Given the description of an element on the screen output the (x, y) to click on. 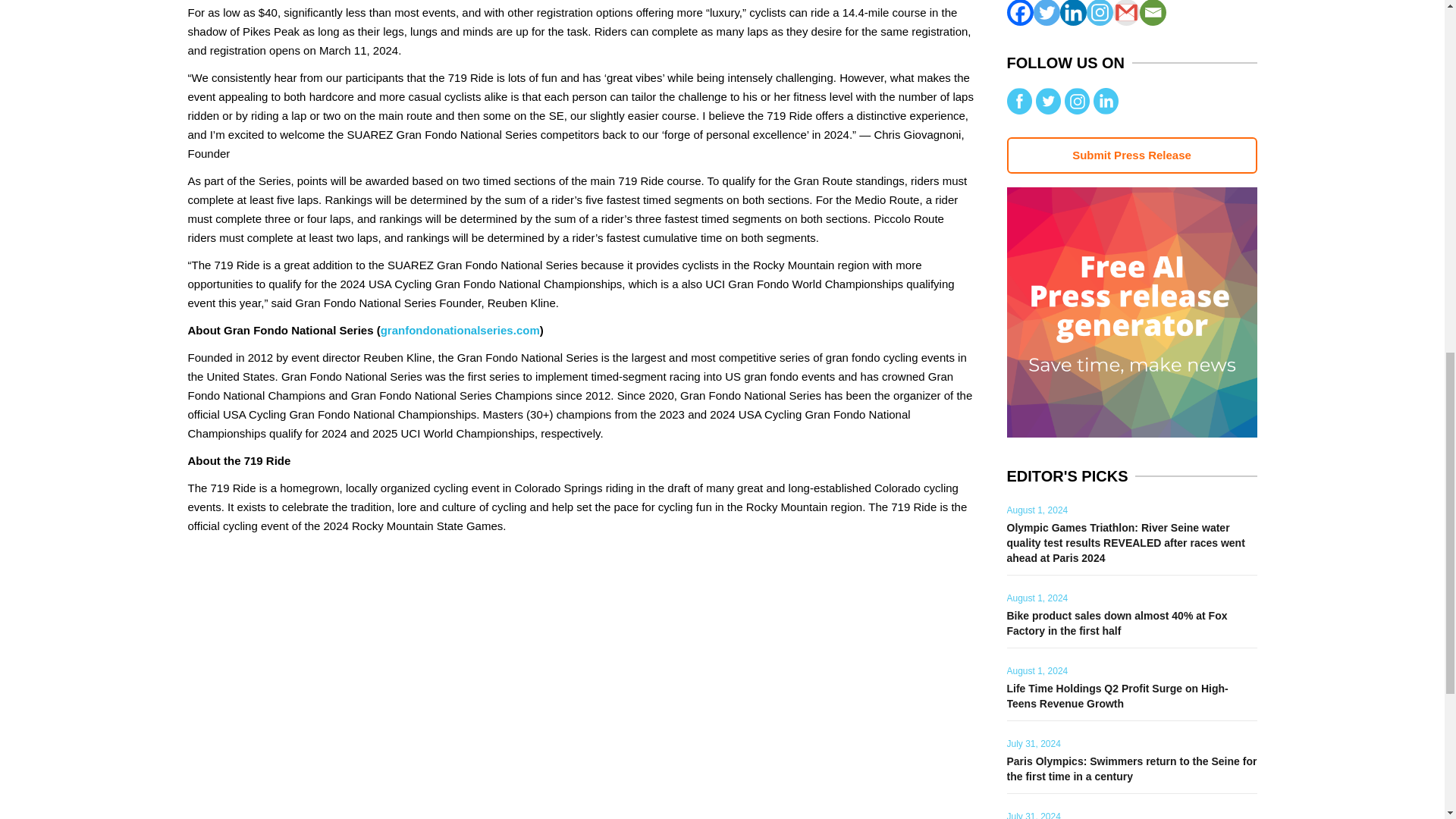
Email (1152, 12)
Instagram (1099, 12)
Facebook (1020, 12)
Linkedin (1072, 12)
Google Gmail (1126, 12)
Twitter (1045, 12)
